Given the description of an element on the screen output the (x, y) to click on. 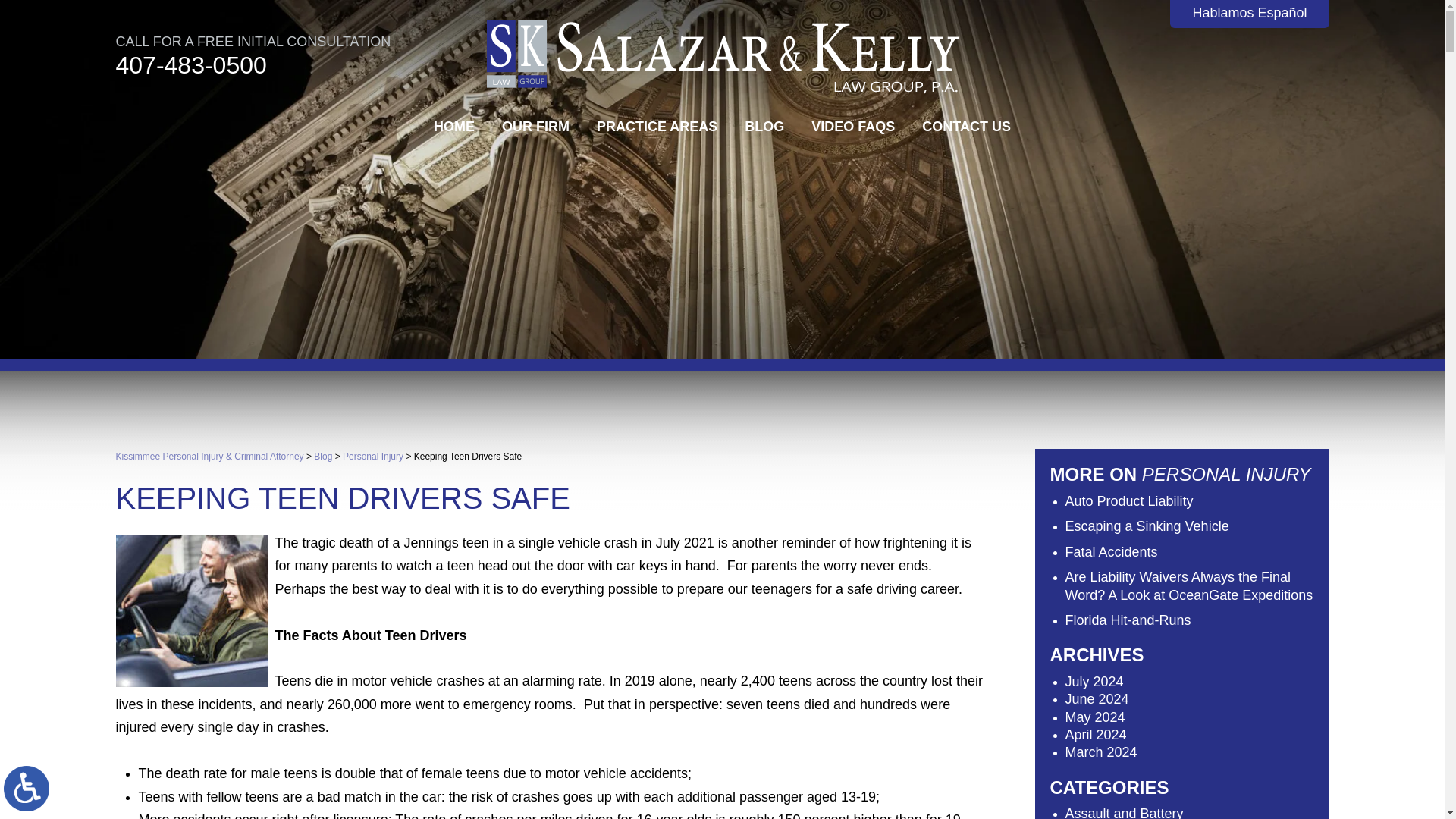
PRACTICE AREAS (656, 125)
TeenDriver3 (190, 611)
HOME (453, 125)
Switch to ADA Accessible Theme (26, 788)
407-483-0500 (190, 64)
OUR FIRM (535, 125)
